Given the description of an element on the screen output the (x, y) to click on. 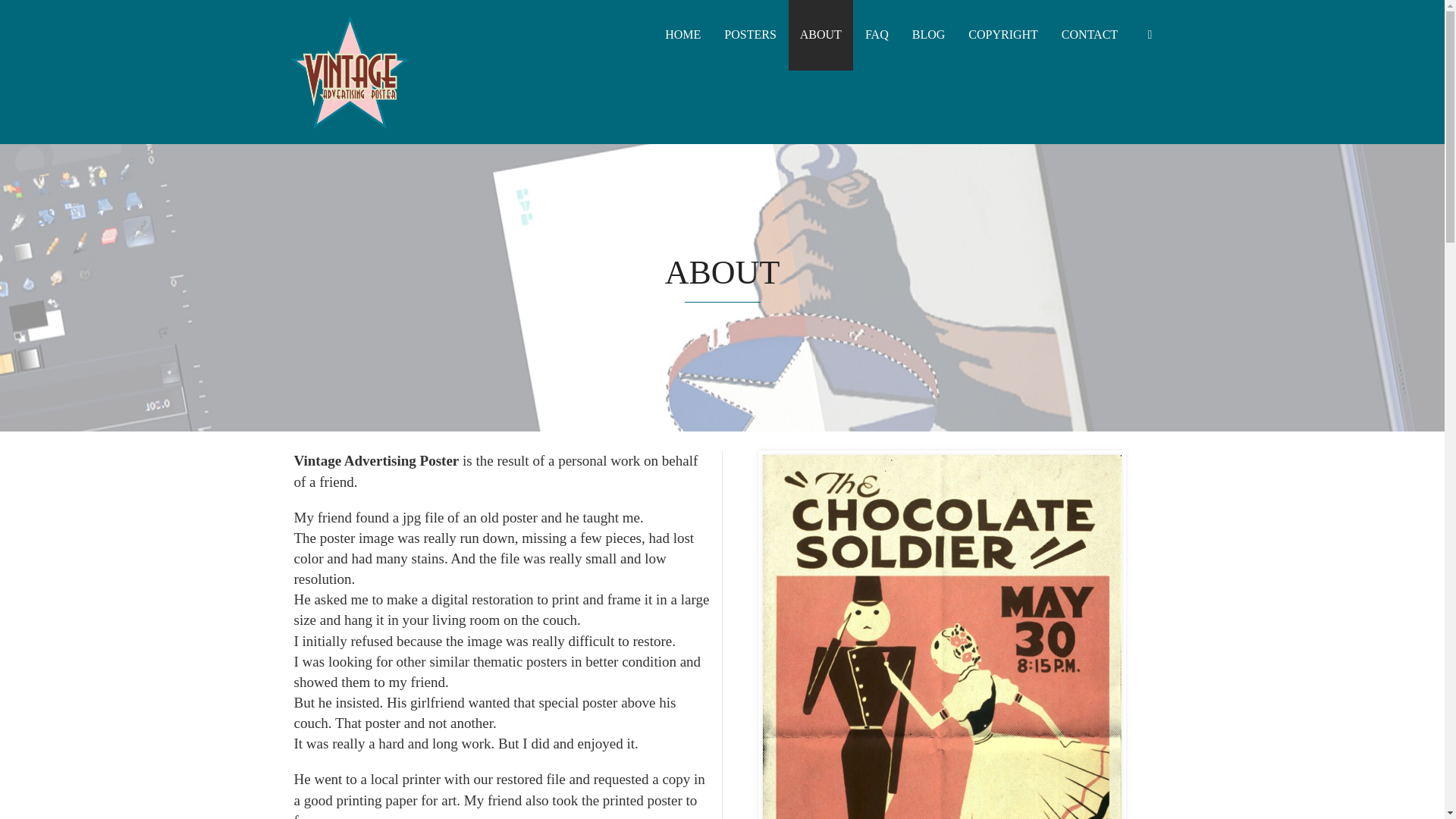
CONTACT (1089, 35)
COPYRIGHT (1002, 35)
Vintage Advertising Posters (349, 69)
POSTERS (750, 35)
row1-bg-aboutus (941, 637)
ABOUT (821, 35)
